Given the description of an element on the screen output the (x, y) to click on. 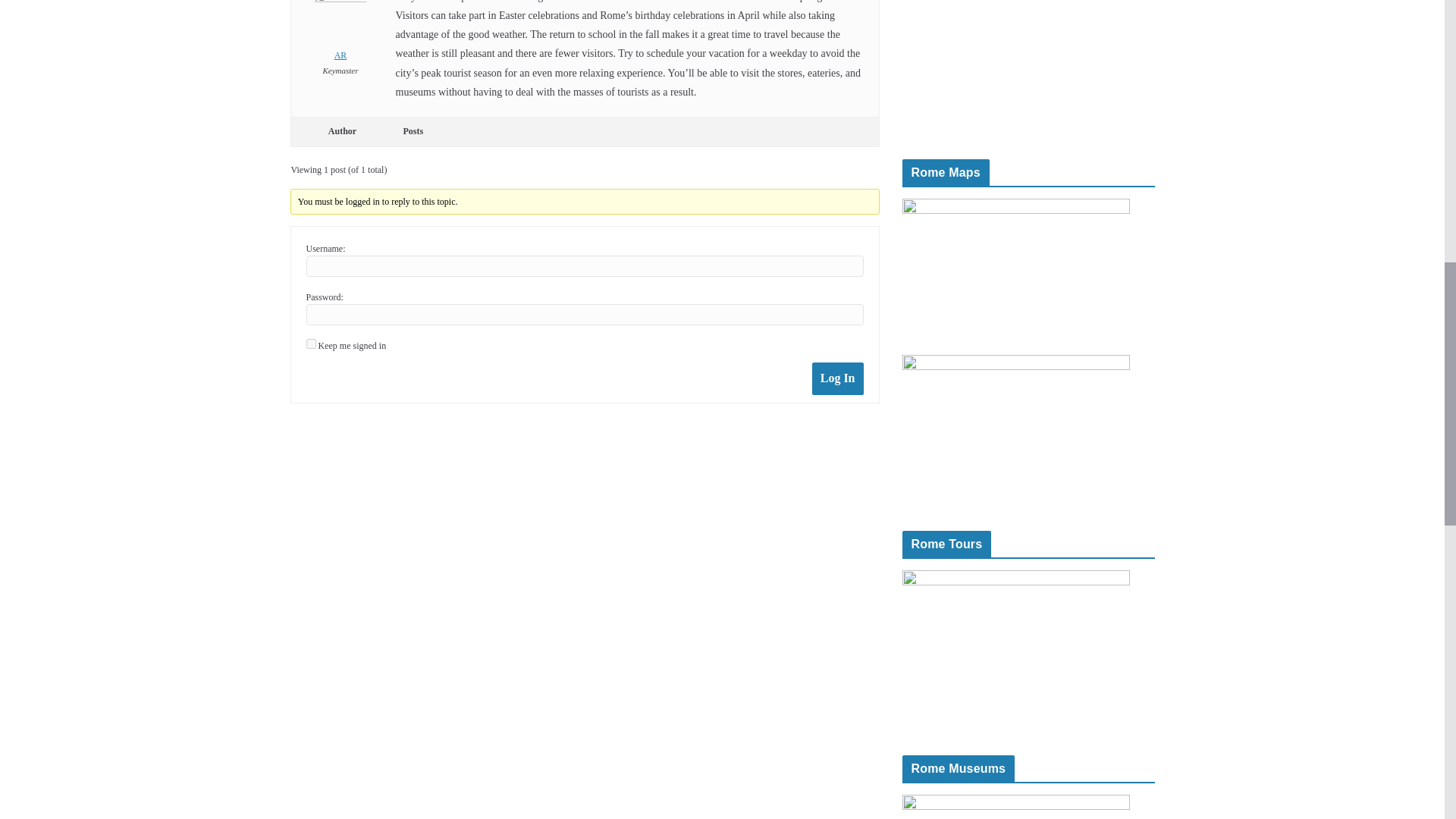
Log In (837, 378)
AR (340, 32)
forever (310, 343)
View AR's profile (340, 32)
